Given the description of an element on the screen output the (x, y) to click on. 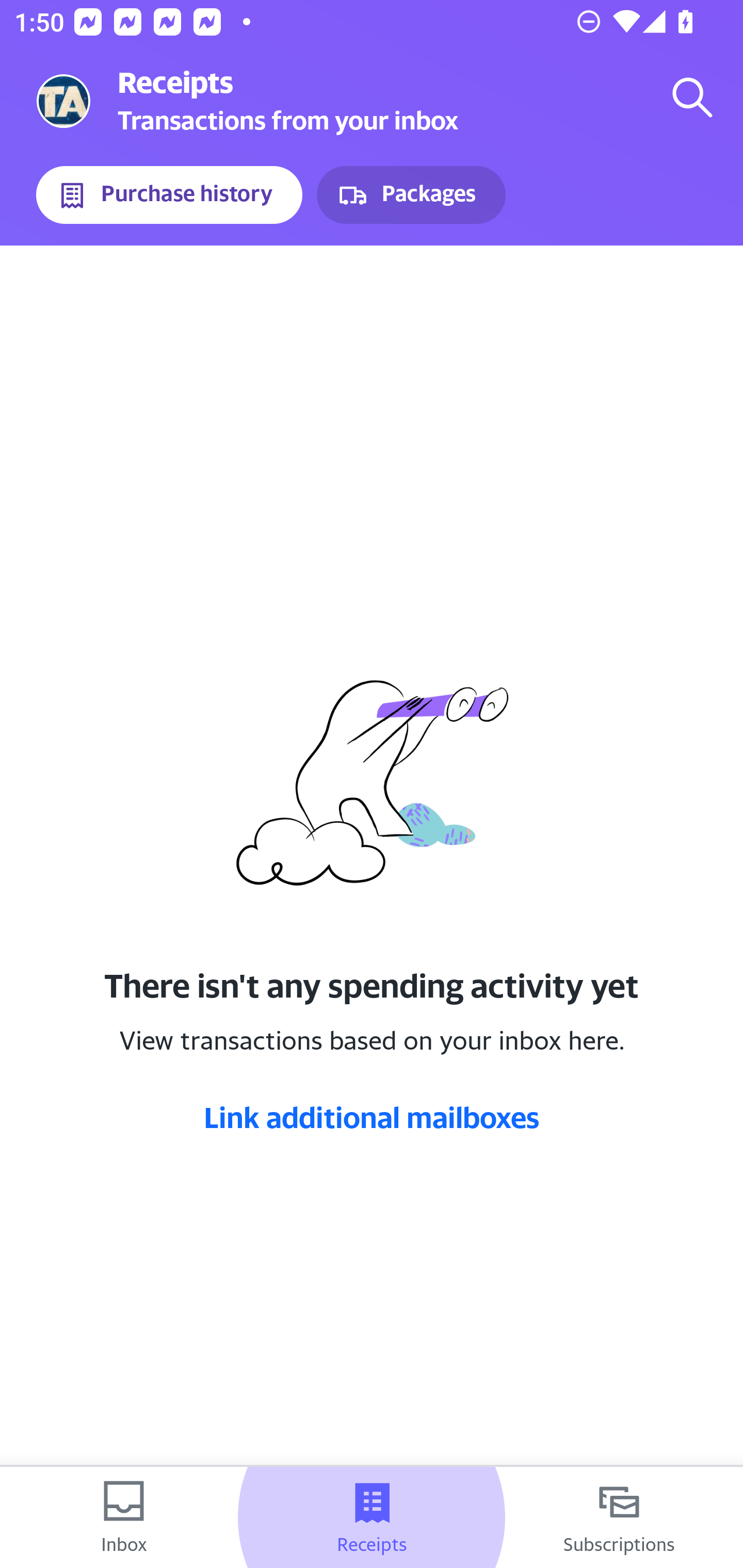
Search mail (692, 97)
Packages (410, 195)
Link additional mailboxes (371, 1117)
Inbox (123, 1517)
Receipts (371, 1517)
Subscriptions (619, 1517)
